Given the description of an element on the screen output the (x, y) to click on. 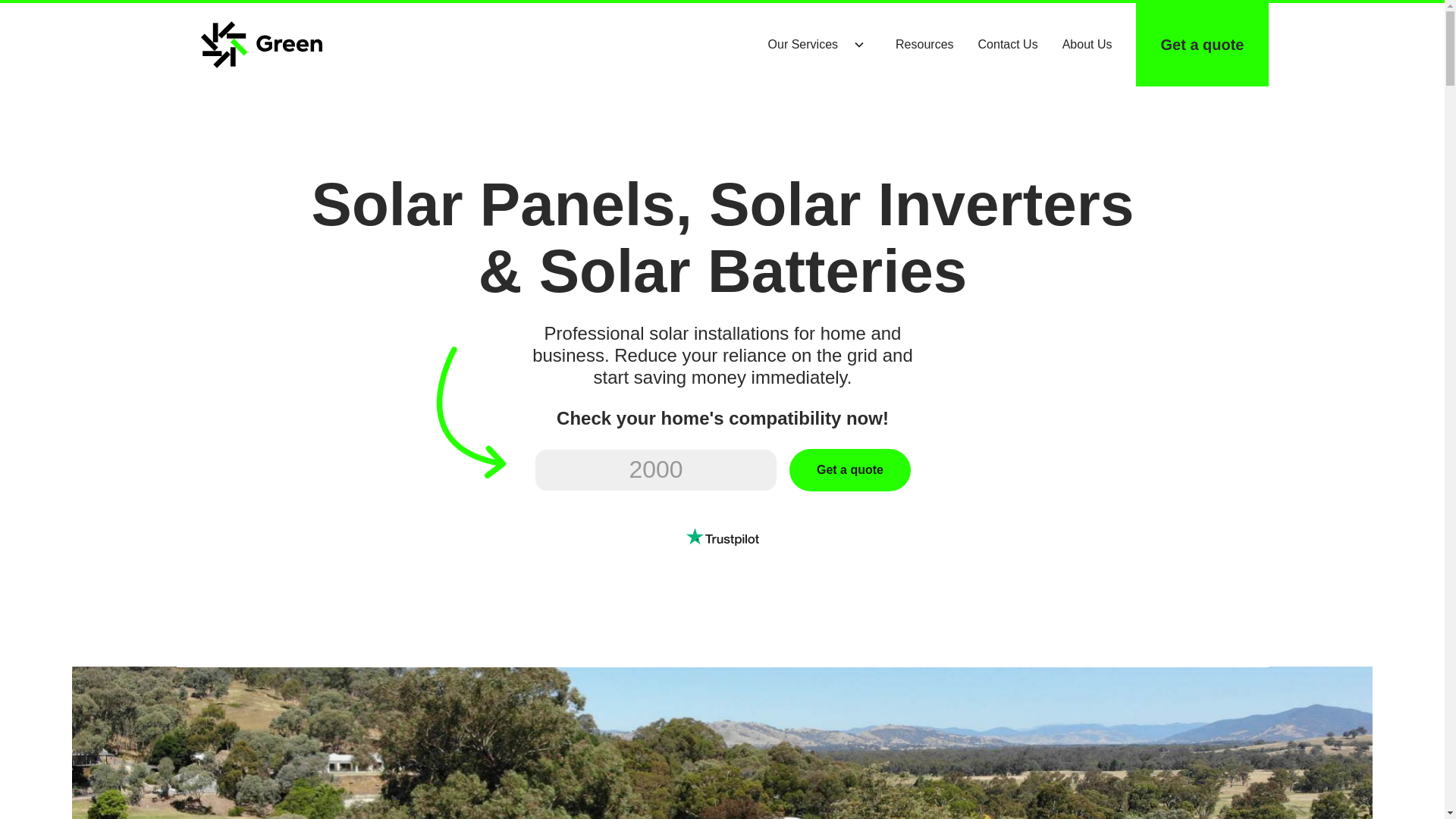
Customer reviews powered by Trustpilot (721, 536)
Get a quote (849, 468)
Resources (924, 44)
About Us (1086, 44)
Get a quote (1201, 44)
Contact Us (1007, 44)
